Given the description of an element on the screen output the (x, y) to click on. 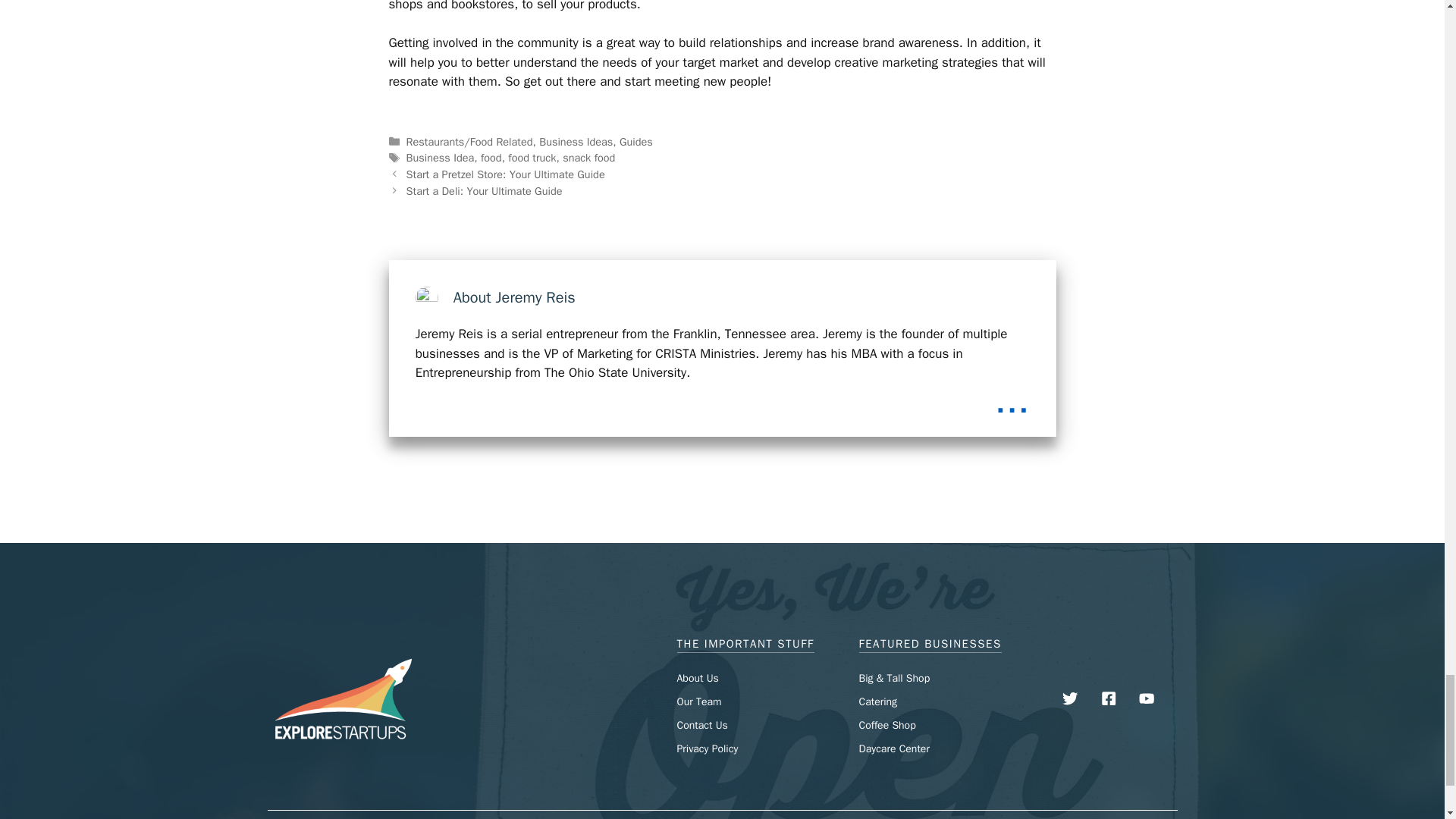
Contact Us (701, 725)
Business Idea (440, 157)
food (491, 157)
Guides (636, 141)
Our Team (698, 701)
About Us (697, 677)
Privacy Policy (707, 748)
food truck (532, 157)
Start a Pretzel Store: Your Ultimate Guide (505, 173)
Catering (877, 701)
